Given the description of an element on the screen output the (x, y) to click on. 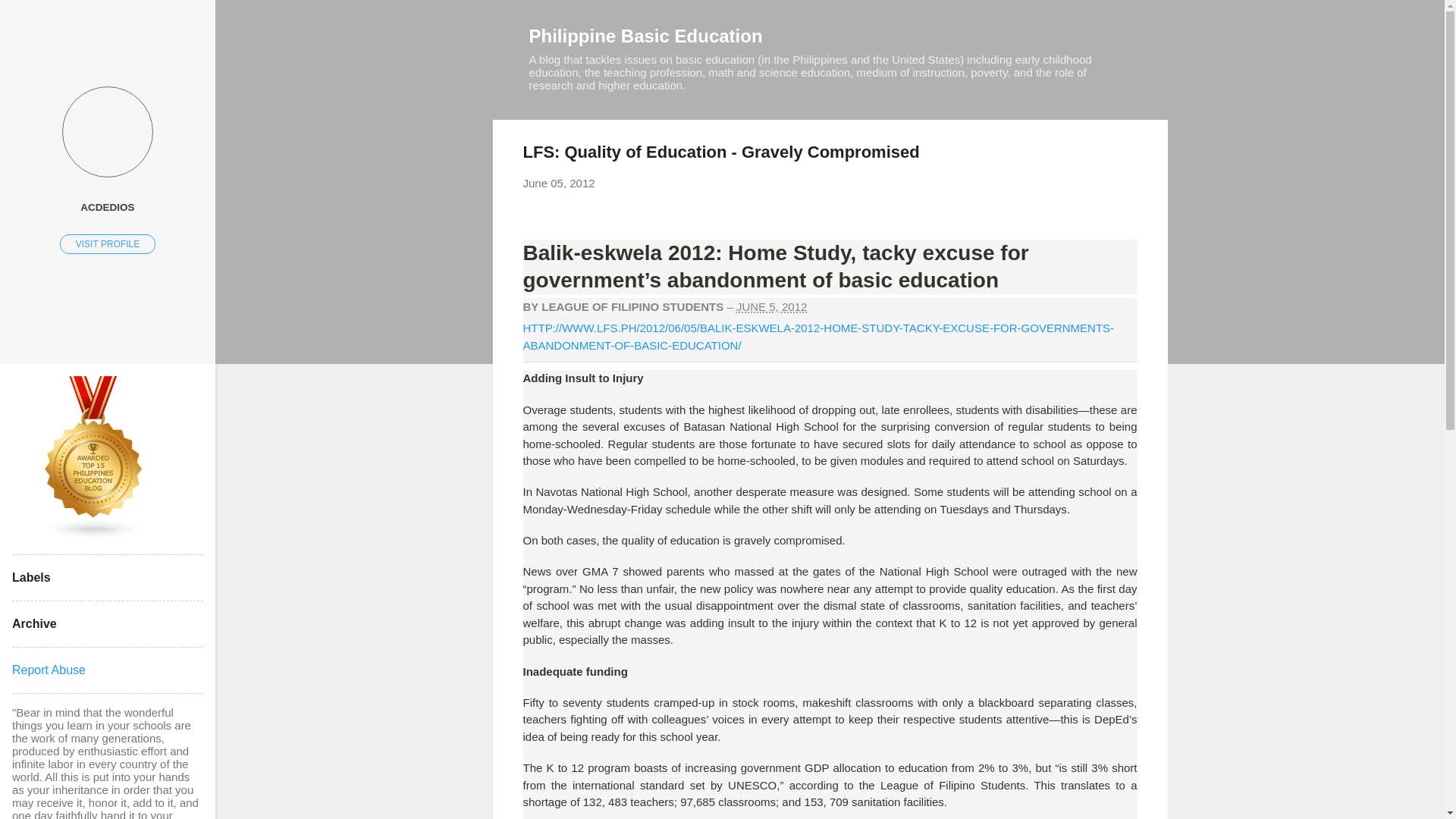
Philippines Education Blogs (93, 535)
June 05, 2012 (558, 182)
permanent link (558, 182)
Philippine Basic Education (645, 35)
ACDEDIOS (107, 206)
VISIT PROFILE (107, 243)
Search (29, 18)
